Given the description of an element on the screen output the (x, y) to click on. 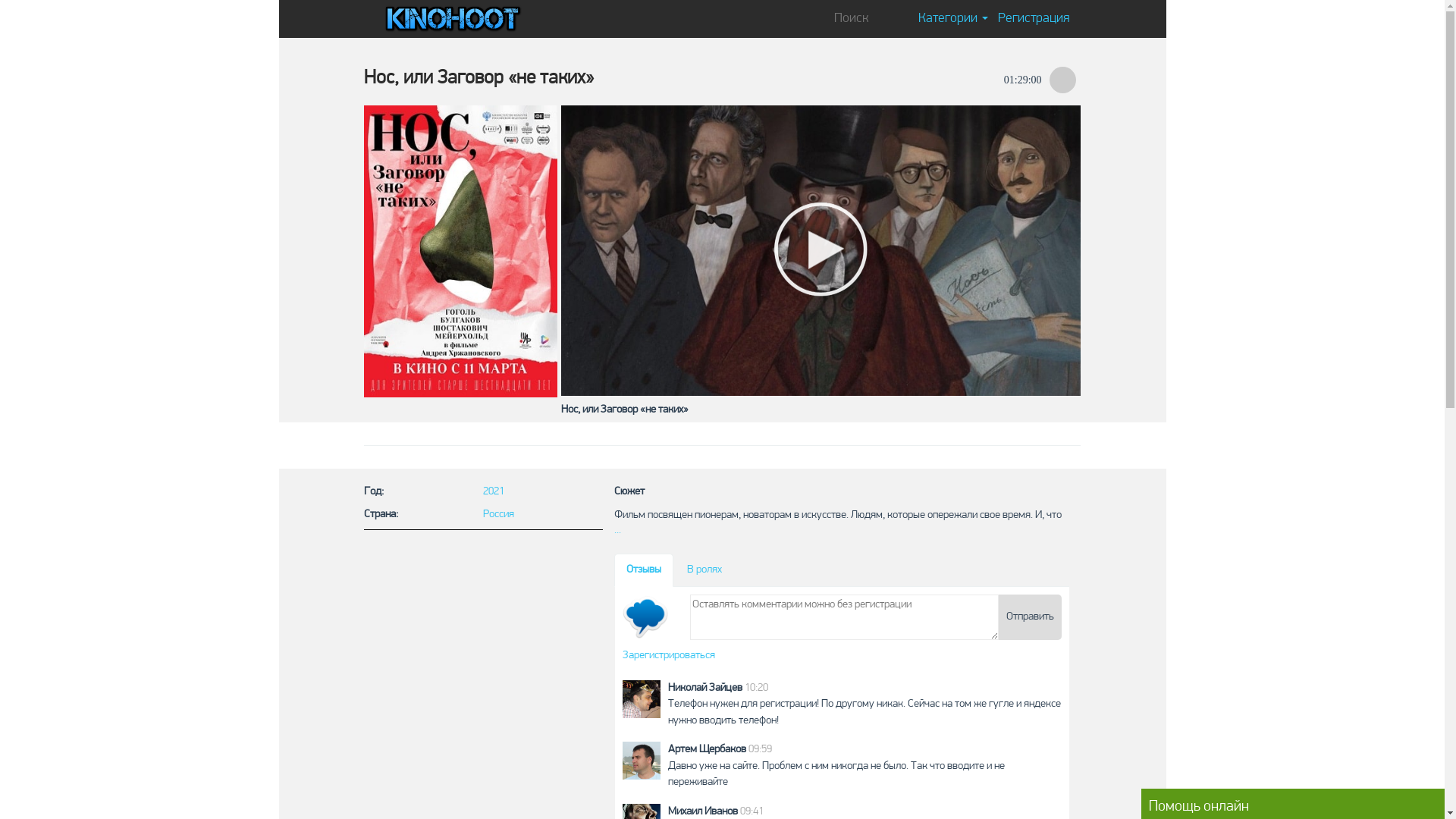
... Element type: text (617, 530)
2021 Element type: text (542, 494)
